Given the description of an element on the screen output the (x, y) to click on. 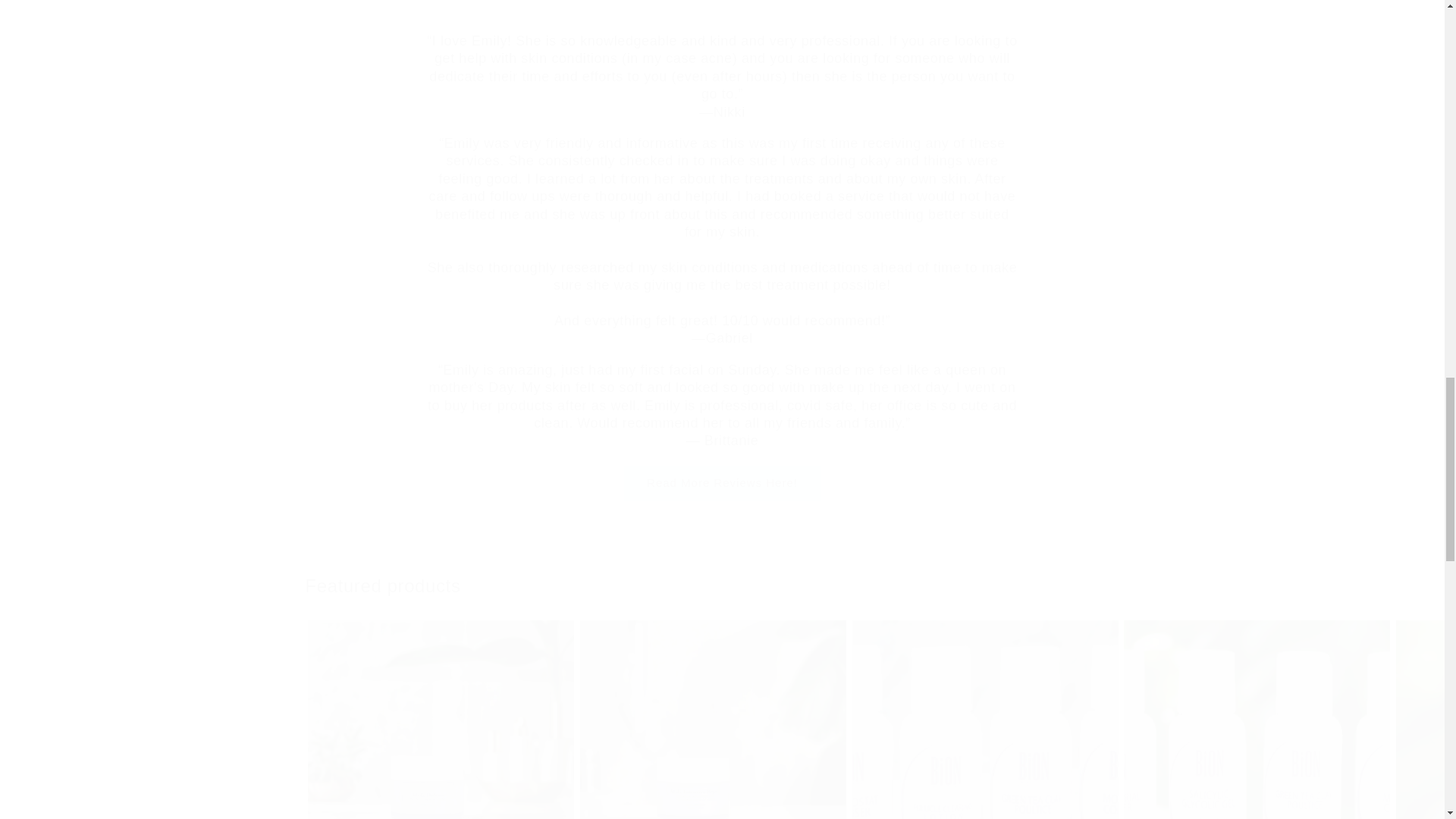
Featured products (721, 585)
Read More Reviews Here! (722, 483)
Read More Reviews Here! (722, 483)
